Given the description of an element on the screen output the (x, y) to click on. 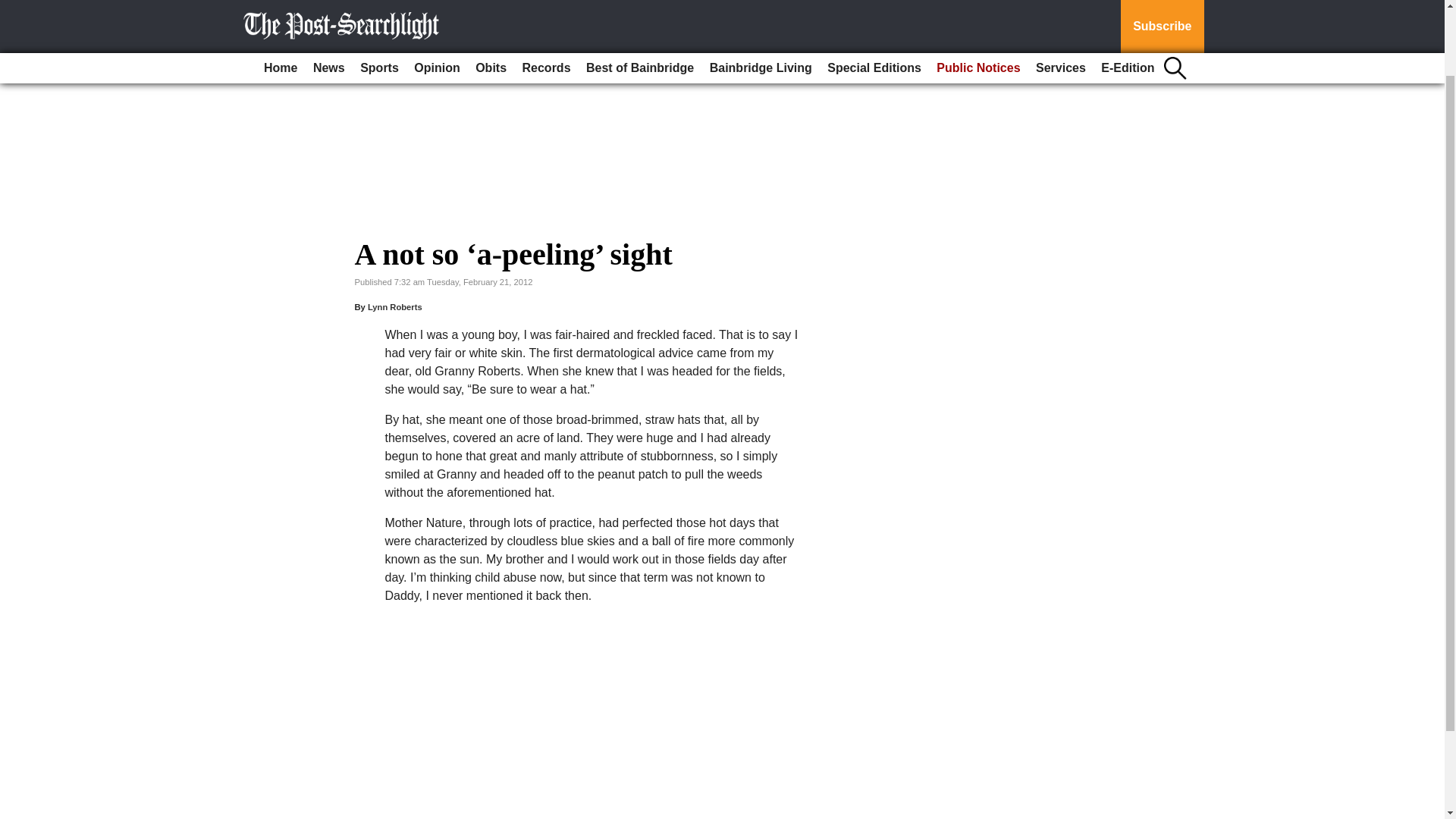
Bainbridge Living (760, 1)
Services (1060, 1)
Best of Bainbridge (639, 1)
Records (546, 1)
Special Editions (874, 1)
Sports (378, 1)
Home (279, 1)
E-Edition (1127, 1)
News (328, 1)
Public Notices (978, 1)
